Given the description of an element on the screen output the (x, y) to click on. 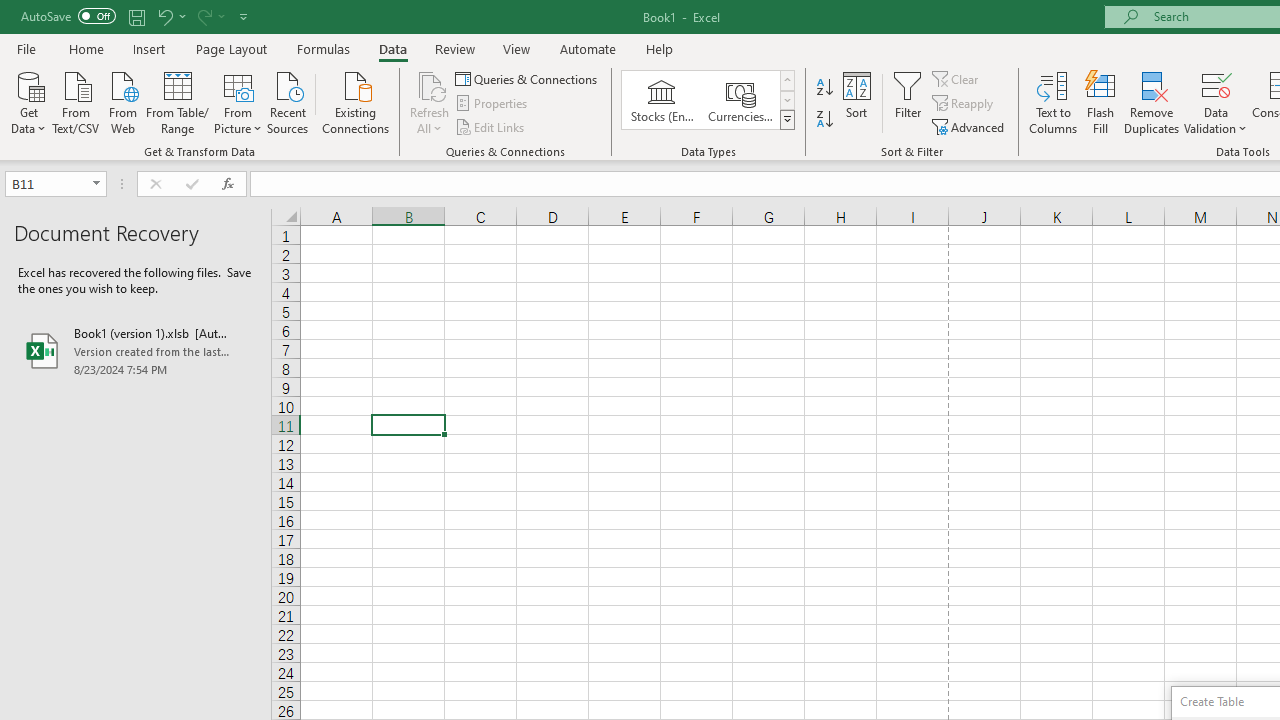
AutoSave (68, 16)
Formulas (323, 48)
Edit Links (491, 126)
Flash Fill (1101, 102)
Properties (492, 103)
Automate (588, 48)
Get Data (28, 101)
Currencies (English) (740, 100)
Recent Sources (287, 101)
Open (96, 183)
Class: NetUIImage (787, 119)
AutomationID: ConvertToLinkedEntity (708, 99)
